Given the description of an element on the screen output the (x, y) to click on. 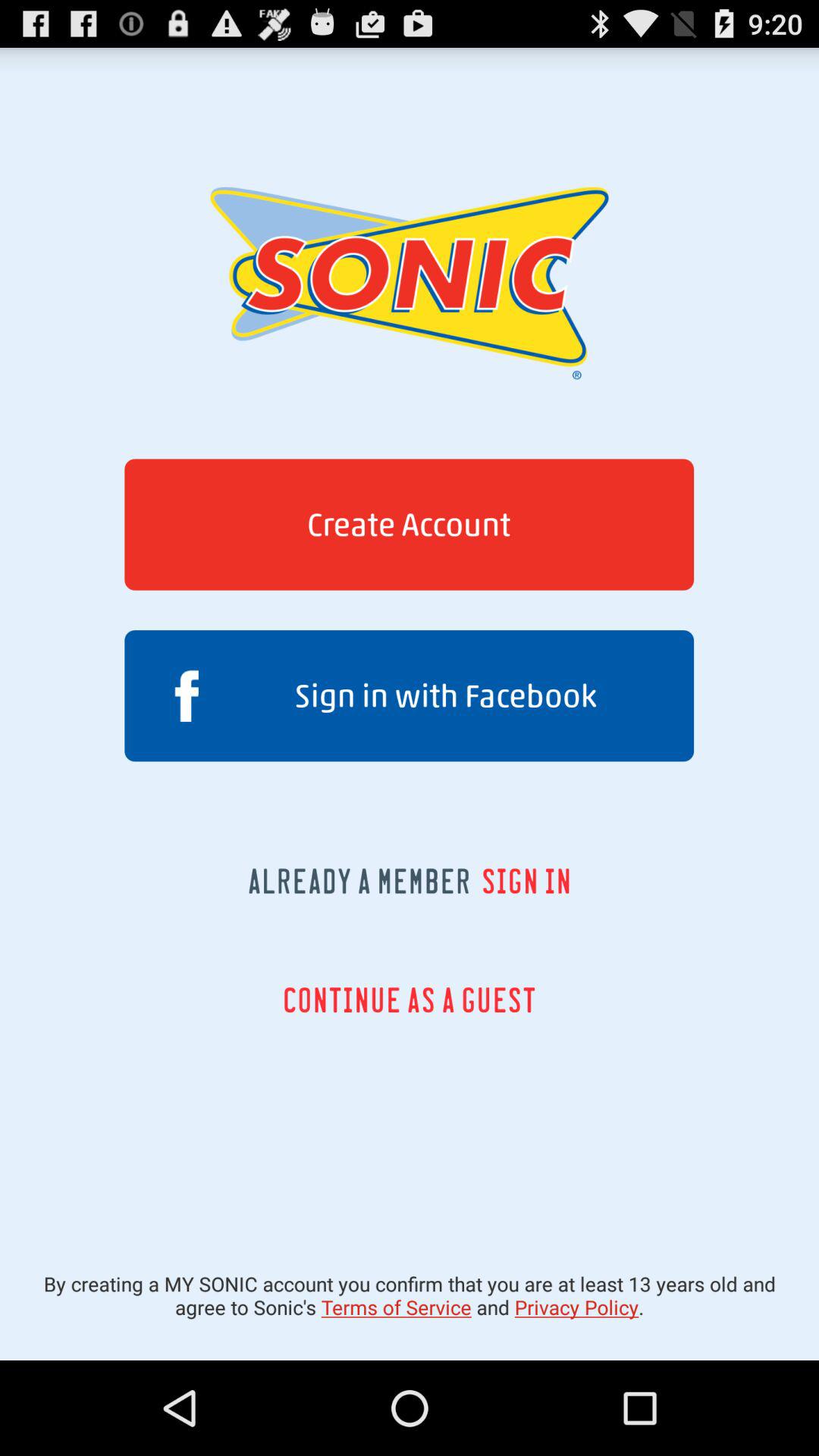
swipe until continue as a icon (409, 999)
